Given the description of an element on the screen output the (x, y) to click on. 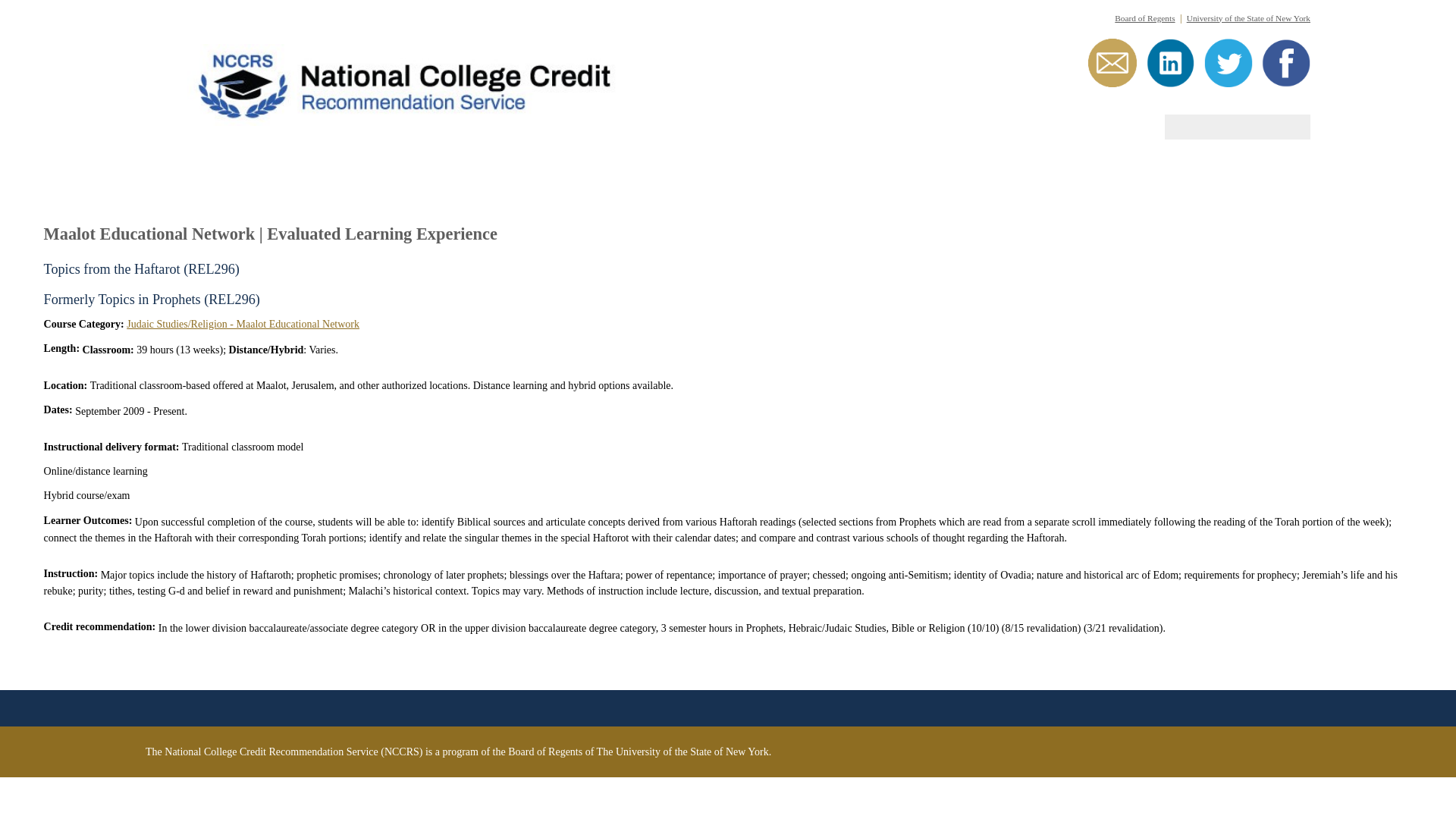
Board of Regents (1144, 17)
University of the State of New York (1248, 17)
Home (430, 82)
